Given the description of an element on the screen output the (x, y) to click on. 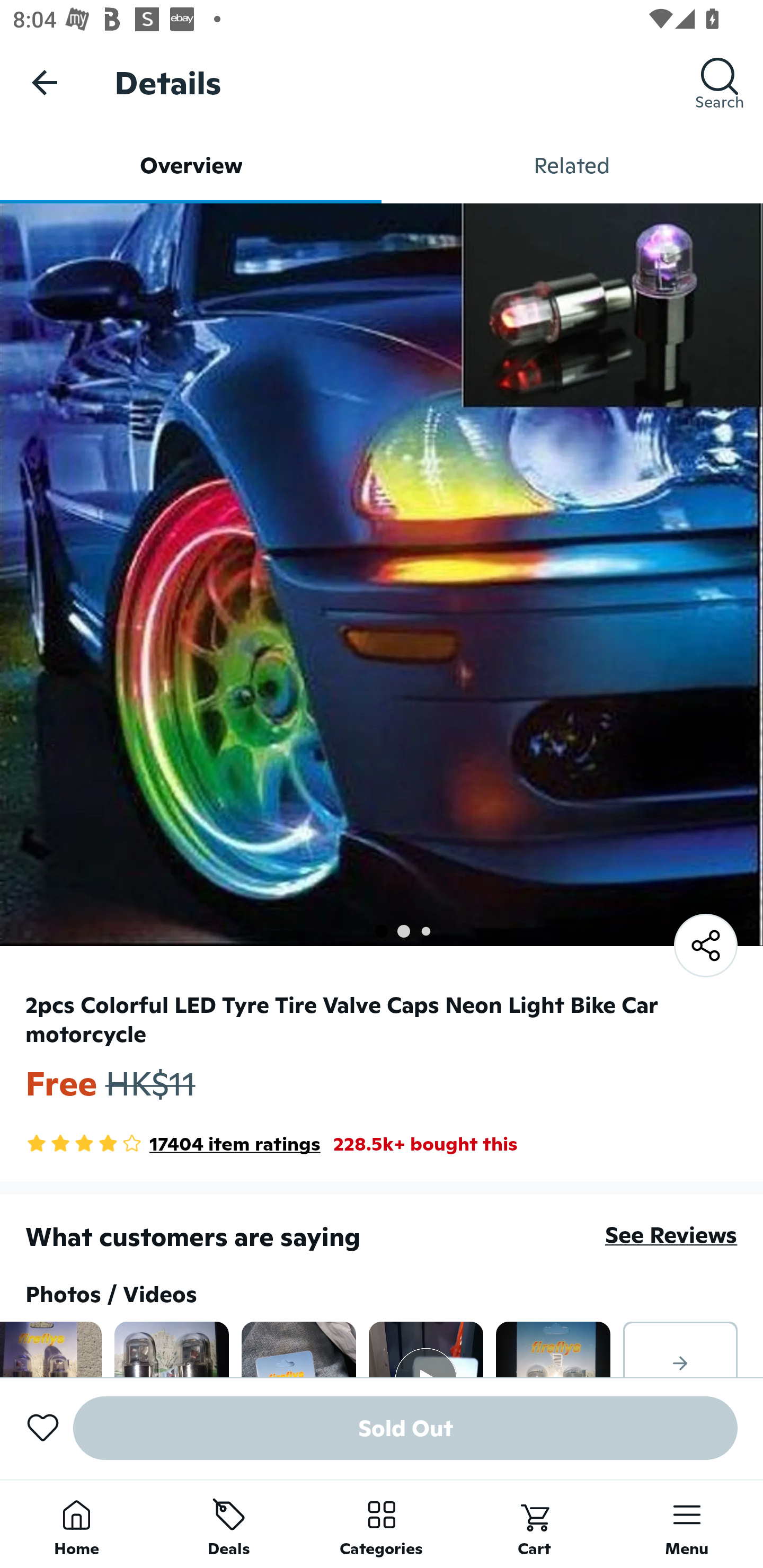
Navigate up (44, 82)
Search (719, 82)
Related (572, 165)
3.8 Star Rating 17404 item ratings (172, 1143)
See Reviews (671, 1234)
Right arrow (680, 1348)
Sold Out (405, 1428)
Home (76, 1523)
Deals (228, 1523)
Categories (381, 1523)
Cart (533, 1523)
Menu (686, 1523)
